Given the description of an element on the screen output the (x, y) to click on. 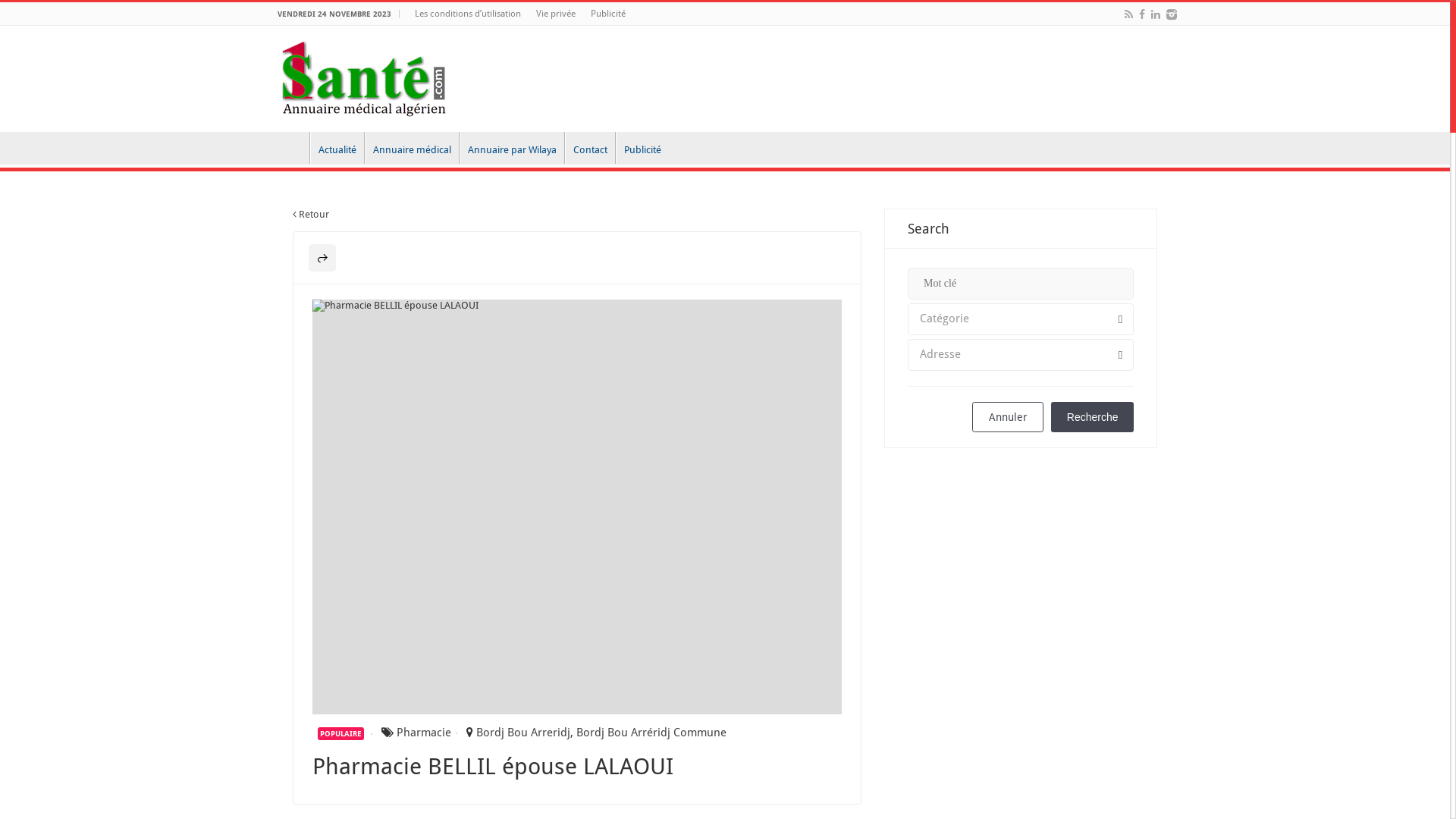
Facebook Element type: hover (1141, 14)
Recherche Element type: text (1092, 416)
Annuaire par Wilaya Element type: text (511, 147)
LinkedIn Element type: hover (1155, 14)
Annuler Element type: text (1007, 416)
Accueil Element type: text (289, 147)
Bordj Bou Arreridj Element type: text (523, 732)
Retour Element type: text (310, 213)
Contact Element type: text (589, 147)
Rss Element type: hover (1128, 14)
Pharmacie Element type: text (423, 732)
instagram Element type: hover (1171, 14)
